Given the description of an element on the screen output the (x, y) to click on. 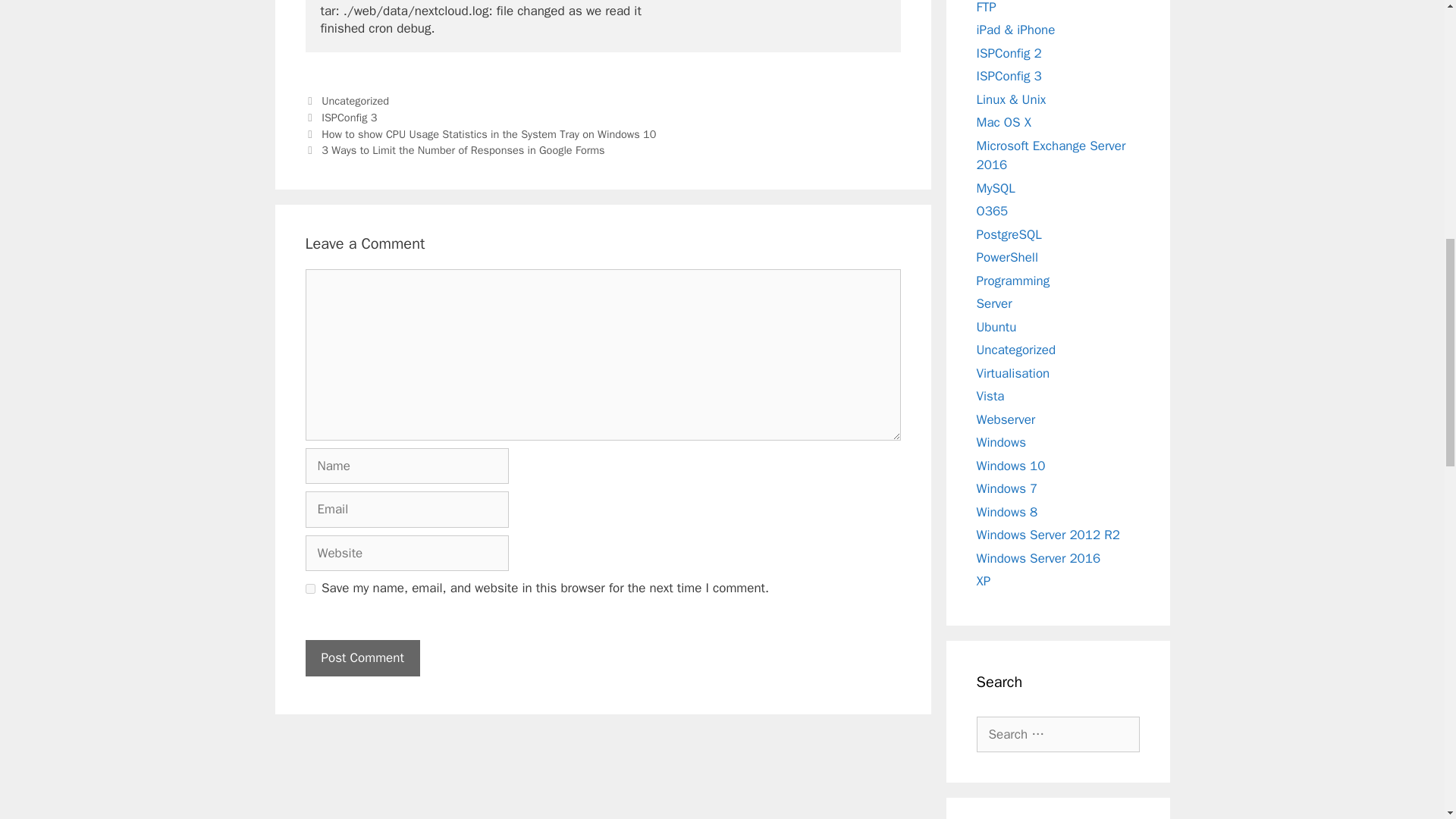
Mac OS X (1003, 122)
ISPConfig 2 (1009, 53)
Uncategorized (354, 100)
Post Comment (361, 657)
yes (309, 588)
Search for: (1058, 733)
MySQL (995, 188)
FTP (985, 7)
Programming (1012, 280)
ISPConfig 3 (349, 117)
Please wait until Google reCAPTCHA is loaded. (361, 657)
Scroll back to top (1406, 720)
PowerShell (1007, 257)
ISPConfig 3 (1009, 75)
